Given the description of an element on the screen output the (x, y) to click on. 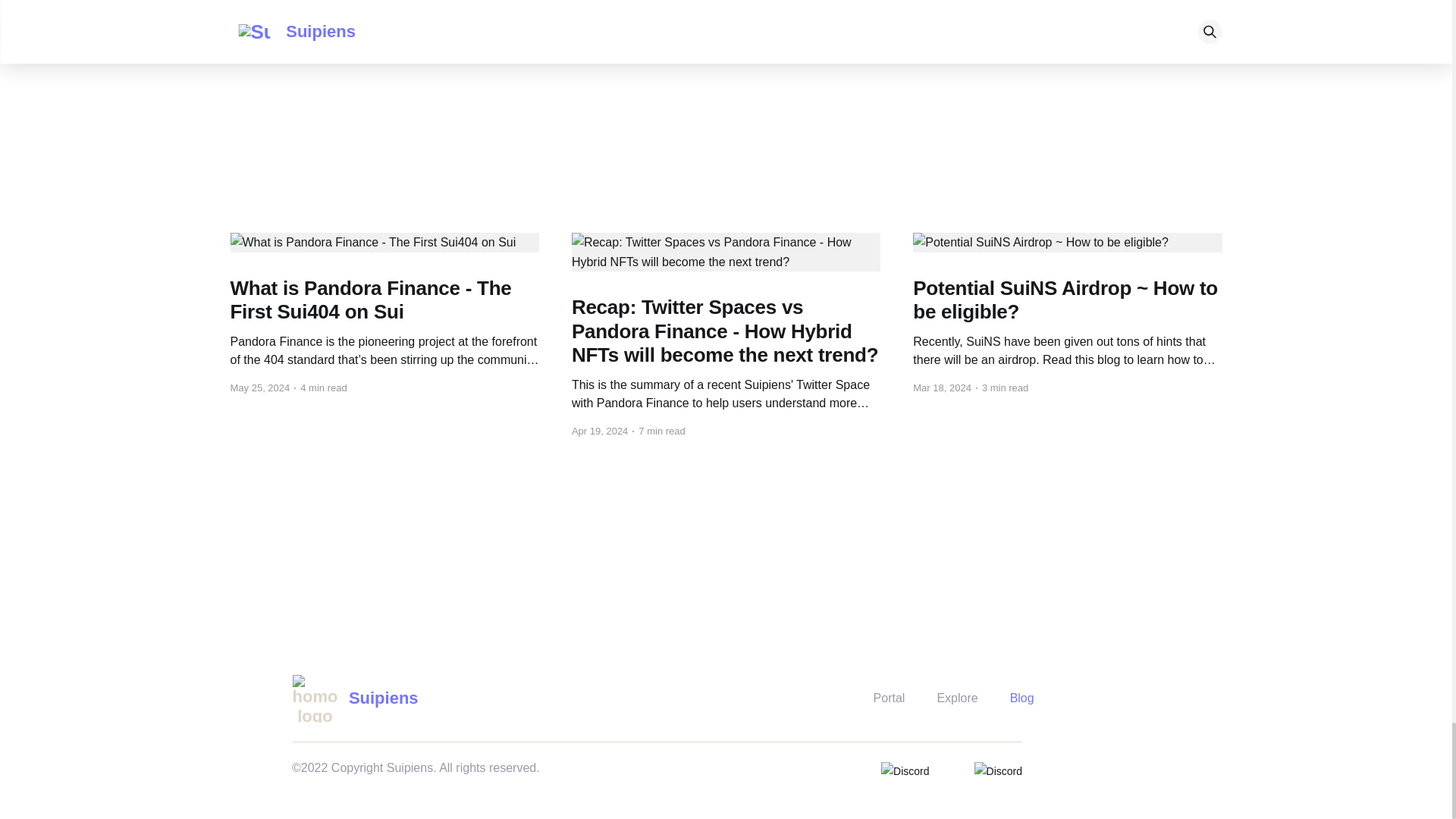
Twitter (714, 26)
Website (656, 26)
Discord (770, 26)
